Given the description of an element on the screen output the (x, y) to click on. 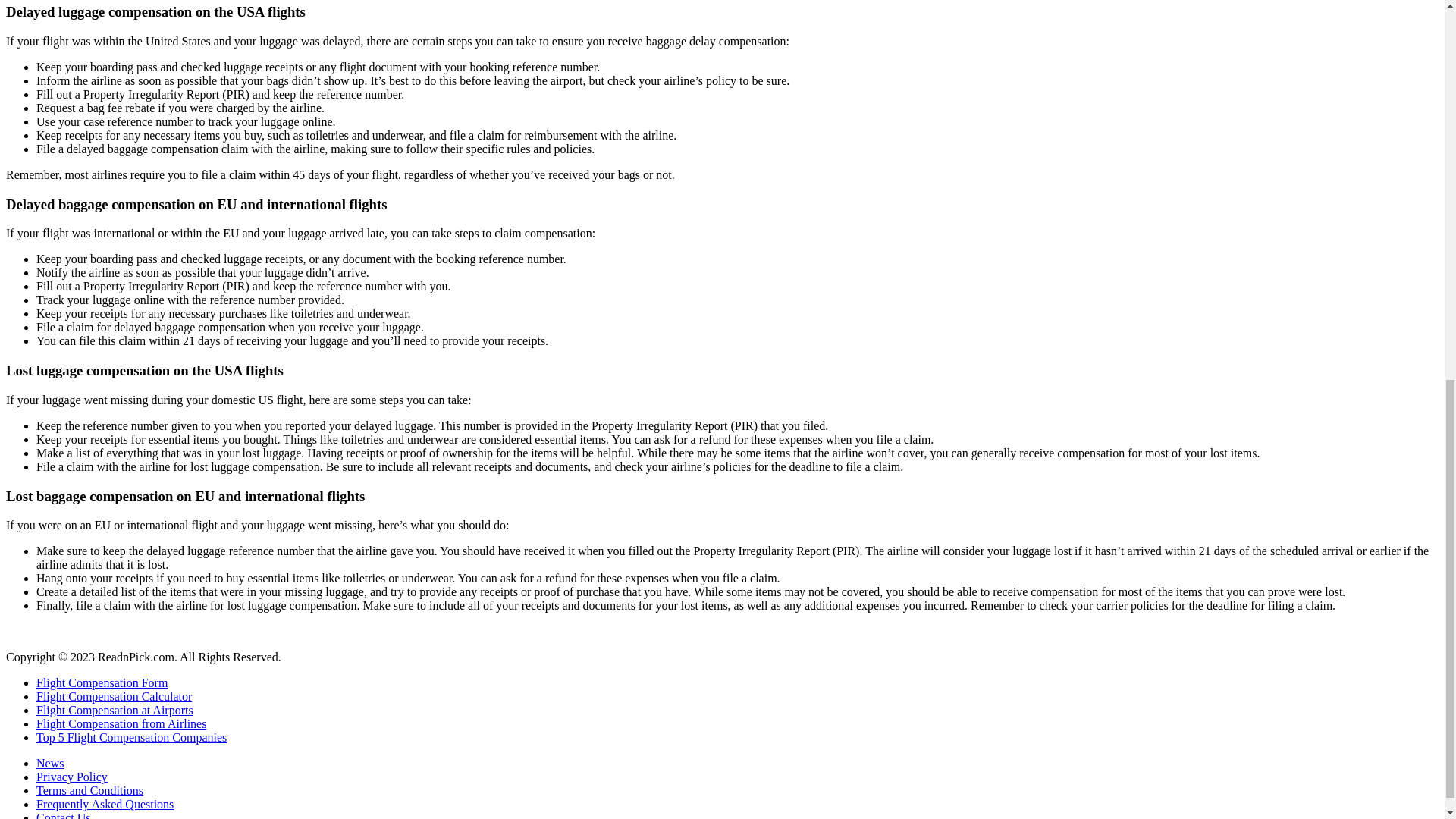
Privacy Policy (71, 776)
Flight Compensation from Airlines (121, 723)
Top 5 Flight Compensation Companies (131, 737)
News (50, 762)
Terms and Conditions (89, 789)
Flight Compensation Calculator (114, 696)
Flight Compensation Form (101, 682)
Flight Compensation at Airports (114, 709)
Frequently Asked Questions (104, 803)
